Given the description of an element on the screen output the (x, y) to click on. 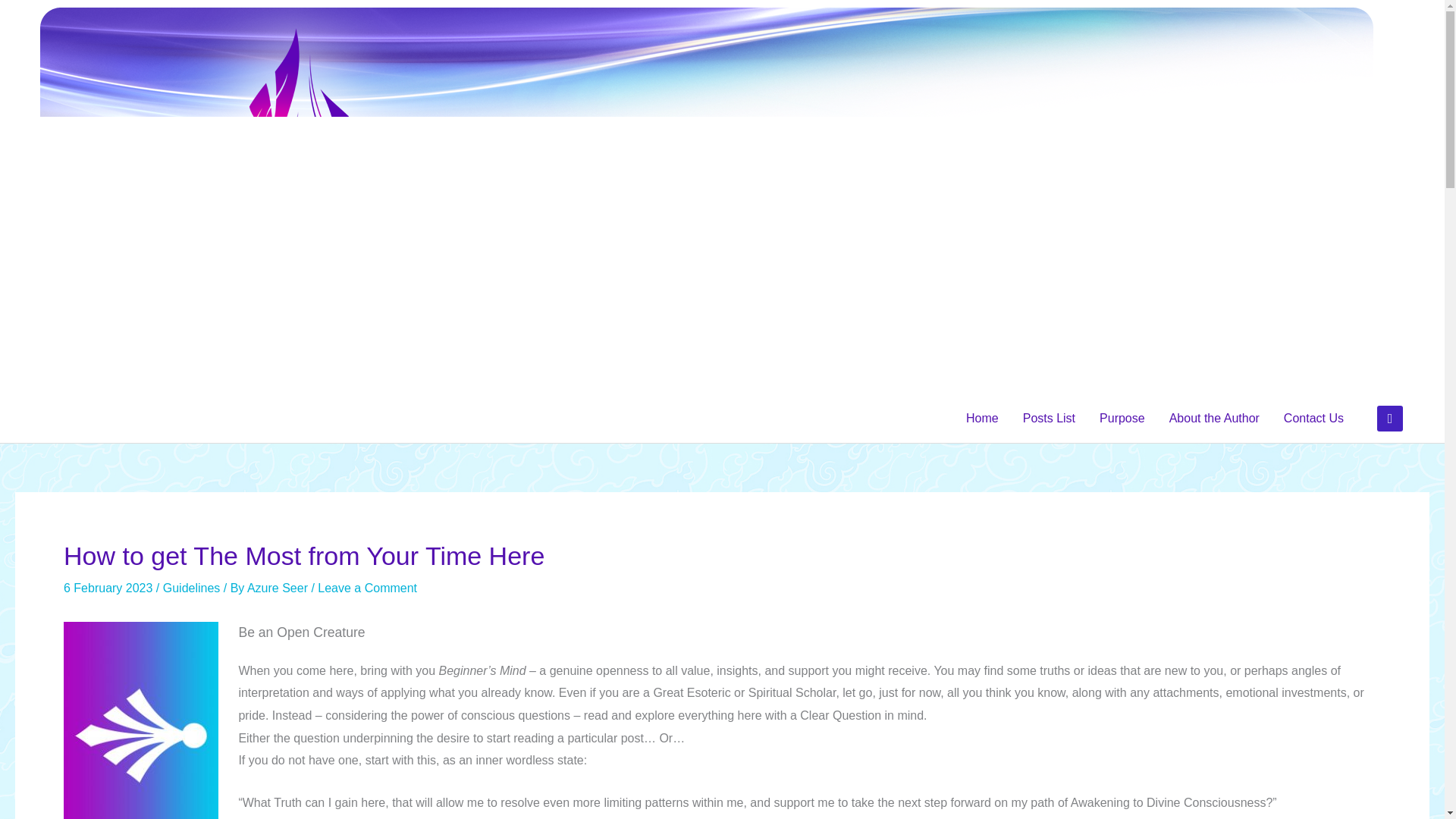
Guidelines (192, 587)
About the Author (1214, 418)
facebook (1390, 417)
Azure Seer (279, 587)
Purpose (1122, 418)
Facebook (1390, 417)
Leave a Comment (366, 587)
Home (981, 418)
Contact Us (1313, 418)
View all posts by Azure Seer (279, 587)
